Given the description of an element on the screen output the (x, y) to click on. 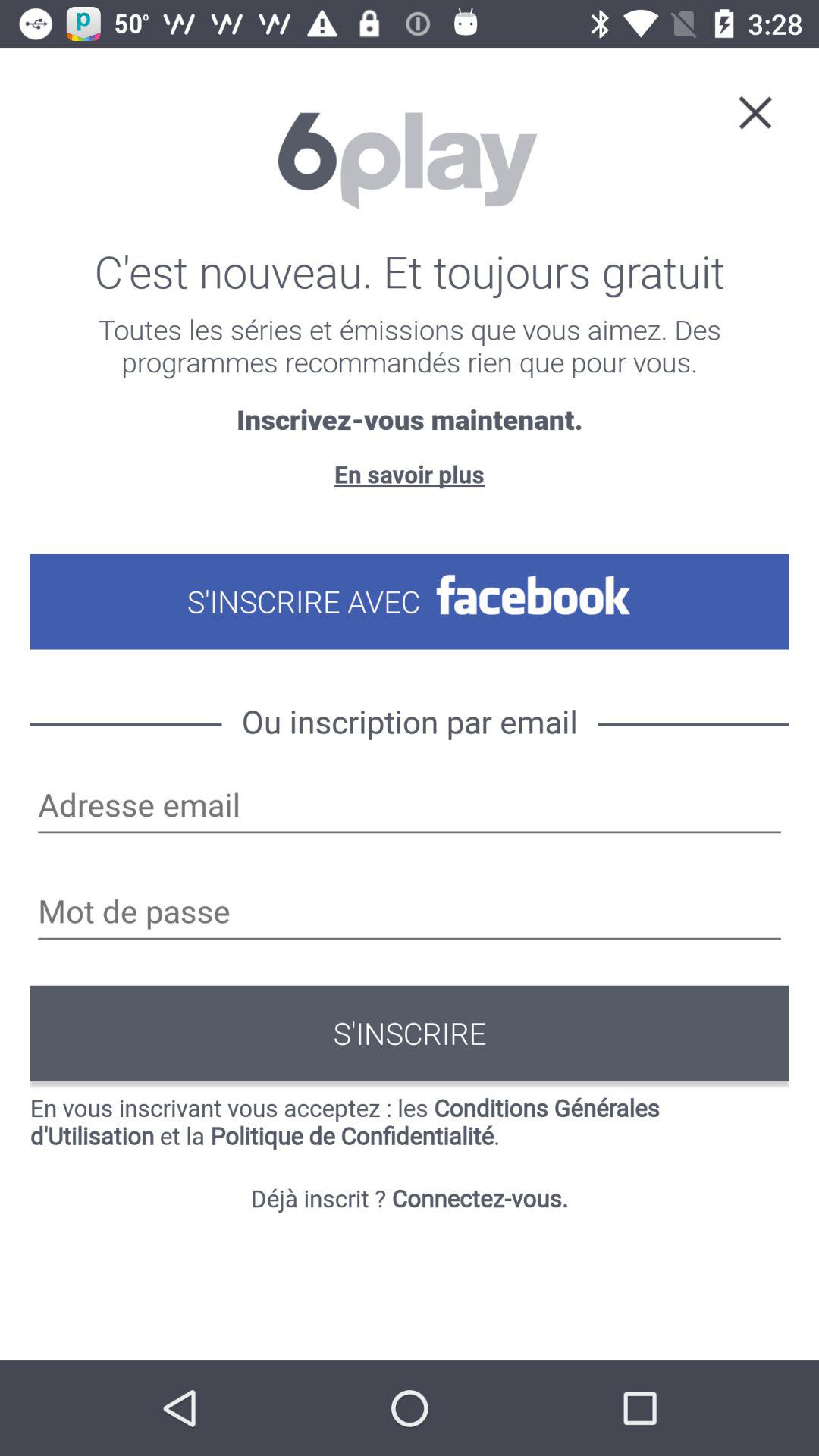
press the item above s'inscrire item (409, 912)
